Given the description of an element on the screen output the (x, y) to click on. 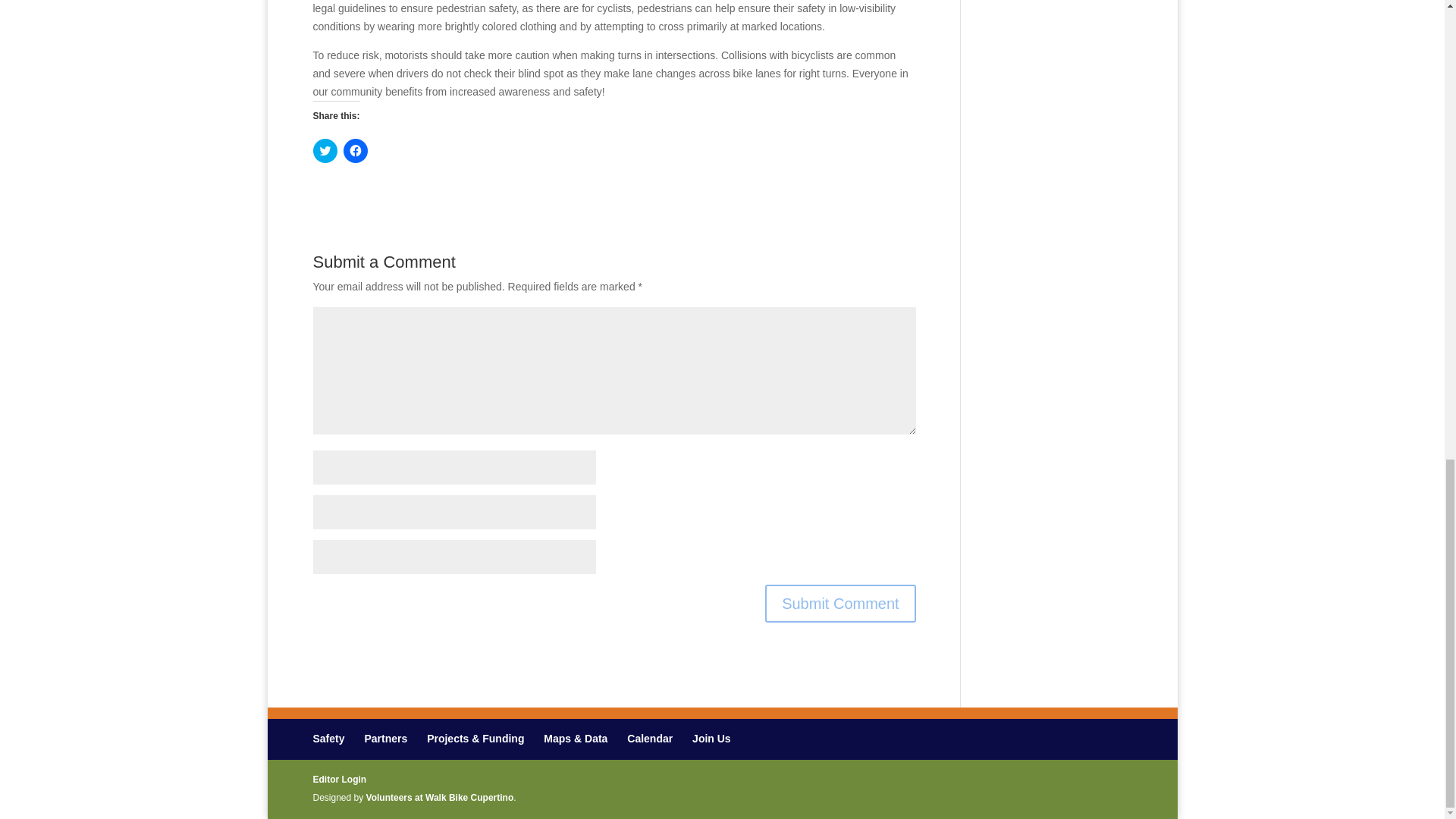
Editor Login (339, 778)
Calendar (649, 738)
Submit Comment (840, 603)
Safety (328, 738)
Submit Comment (840, 603)
Click to share on Facebook (354, 150)
Join Us (711, 738)
Partners (385, 738)
Click to share on Twitter (324, 150)
